Given the description of an element on the screen output the (x, y) to click on. 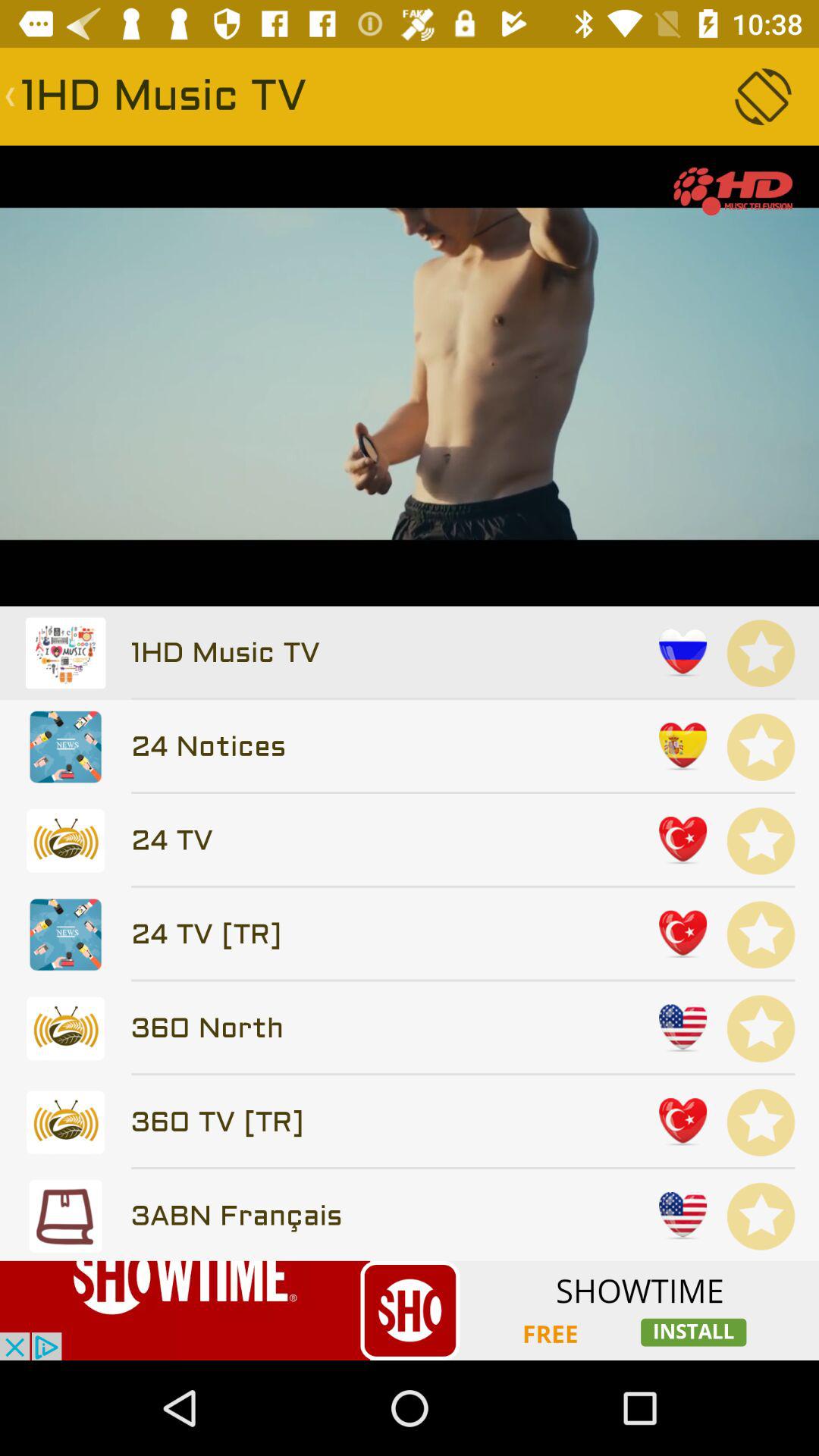
click advertisement (409, 1310)
